Given the description of an element on the screen output the (x, y) to click on. 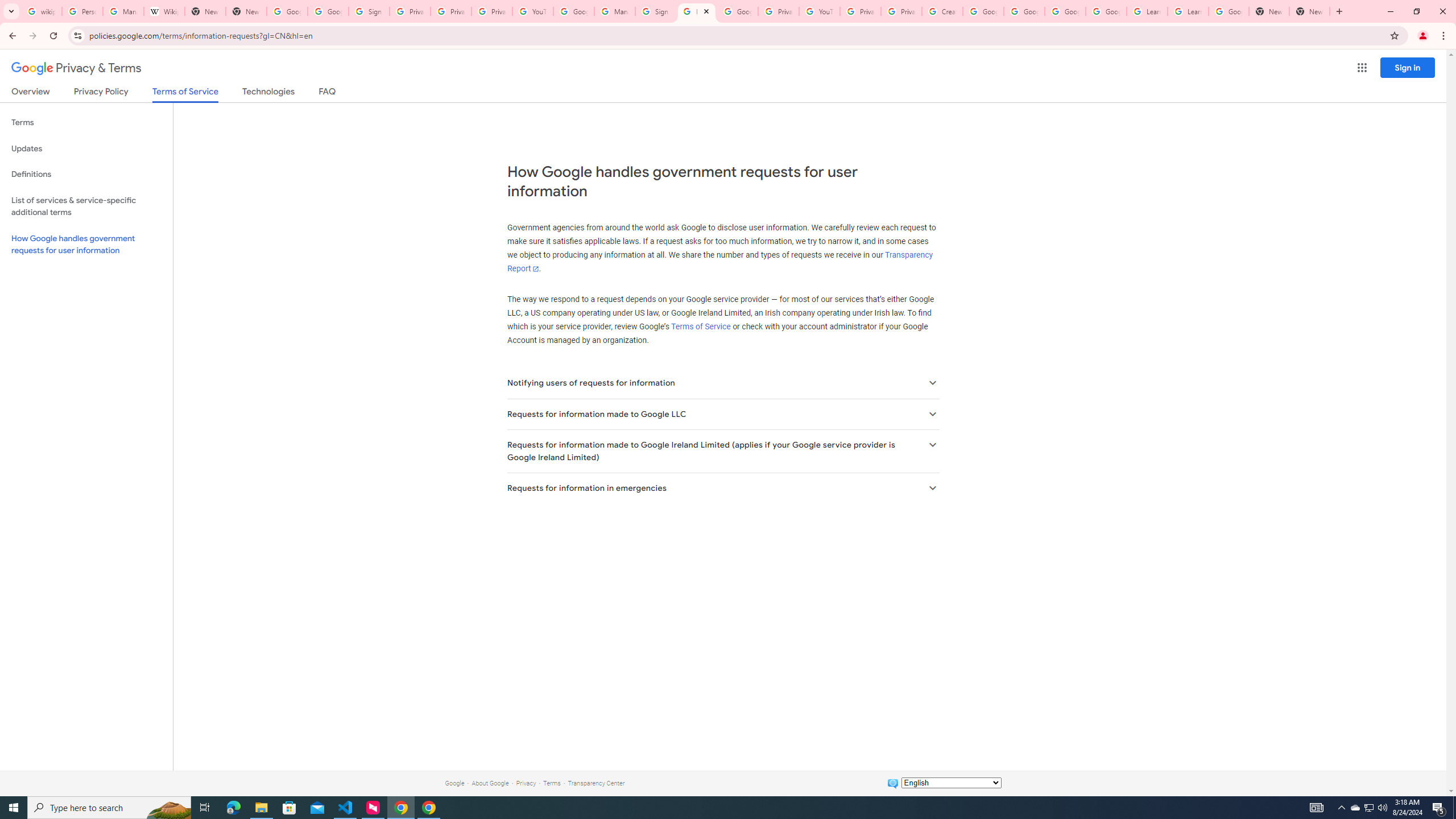
Google Drive: Sign-in (327, 11)
Personalization & Google Search results - Google Search Help (81, 11)
Google Account Help (573, 11)
Create your Google Account (942, 11)
New Tab (246, 11)
List of services & service-specific additional terms (86, 206)
